Given the description of an element on the screen output the (x, y) to click on. 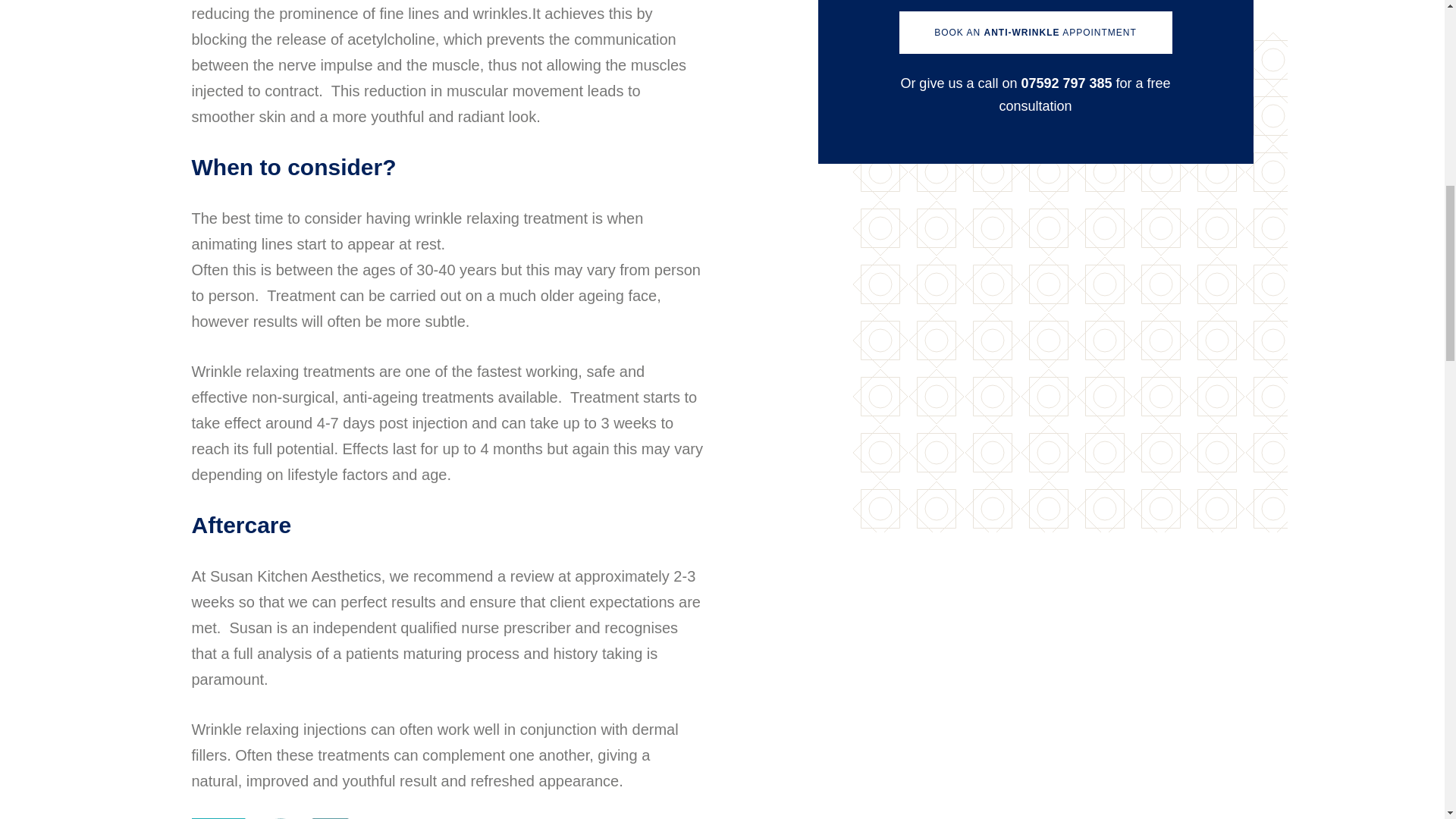
BOOK AN ANTI-WRINKLE APPOINTMENT (1035, 32)
